Given the description of an element on the screen output the (x, y) to click on. 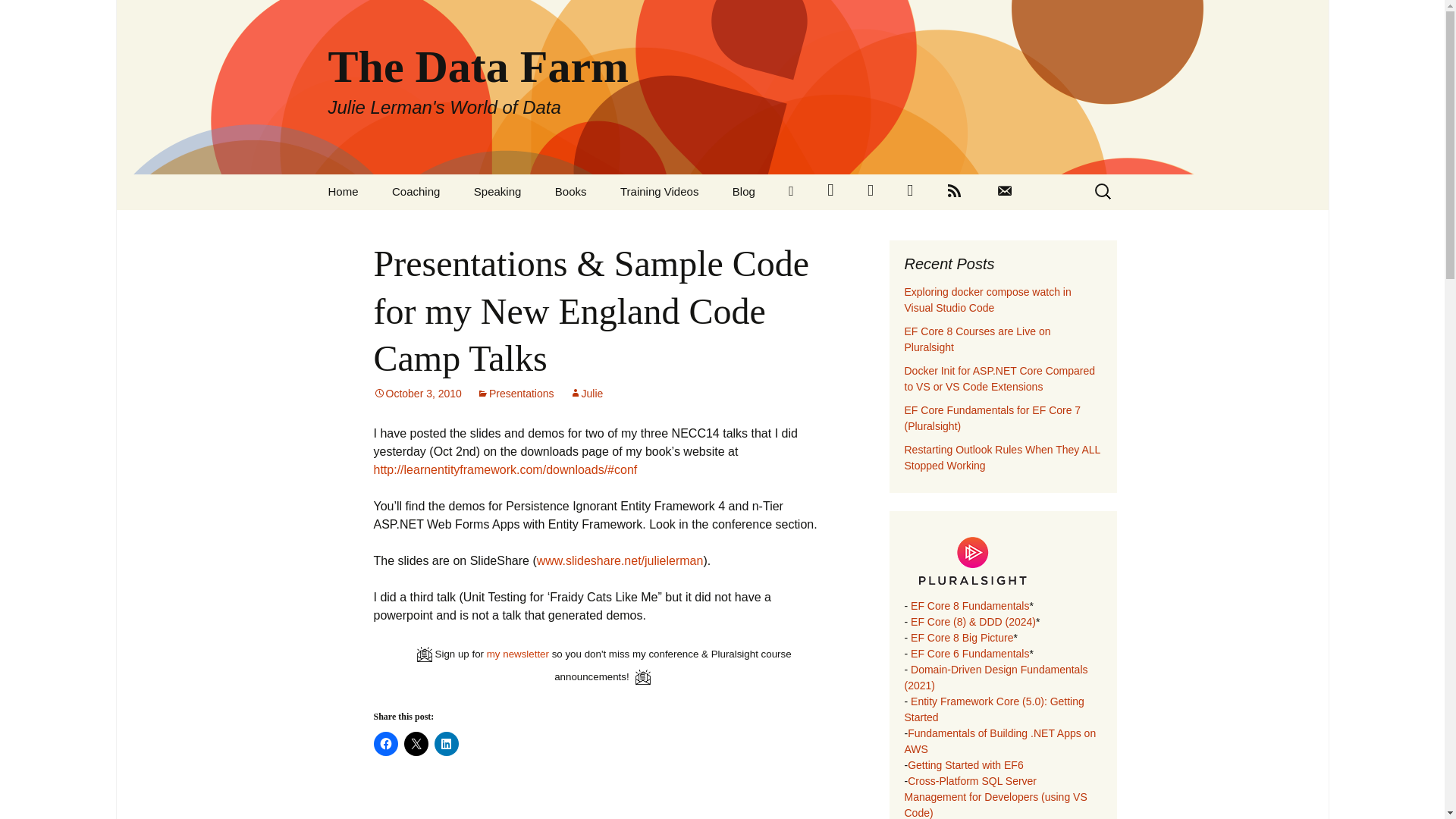
my newsletter (517, 654)
Presentations (515, 393)
Julie (586, 393)
Search (18, 15)
October 3, 2010 (416, 393)
Coaching (415, 191)
Click to share on X (415, 743)
Contact (1004, 191)
Twitter (830, 191)
View all posts by Julie (586, 393)
Click to share on LinkedIn (445, 743)
RSS (953, 191)
Facebook (869, 191)
Speaking (497, 191)
